Given the description of an element on the screen output the (x, y) to click on. 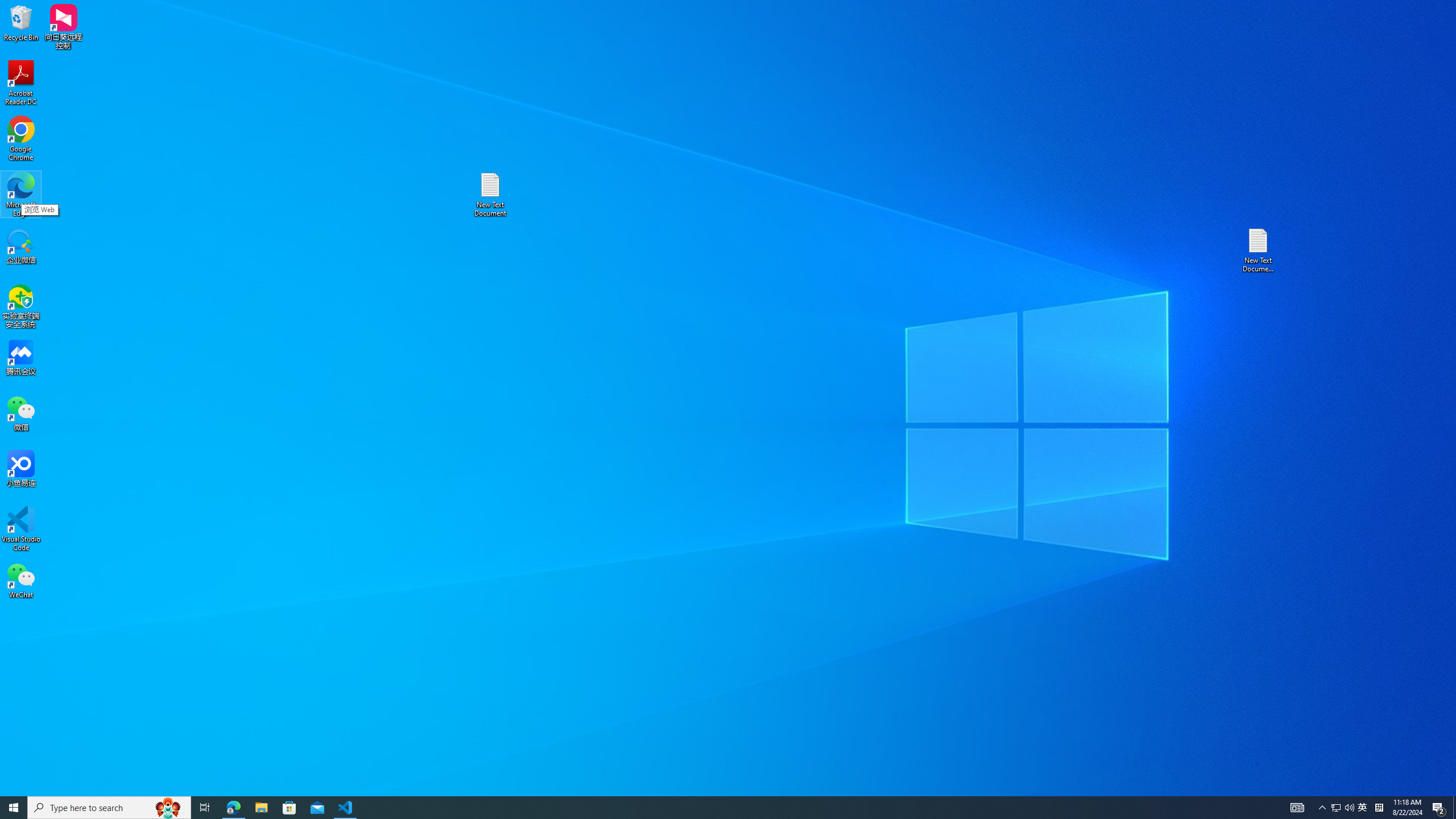
New Text Document (489, 194)
WeChat (21, 580)
